Given the description of an element on the screen output the (x, y) to click on. 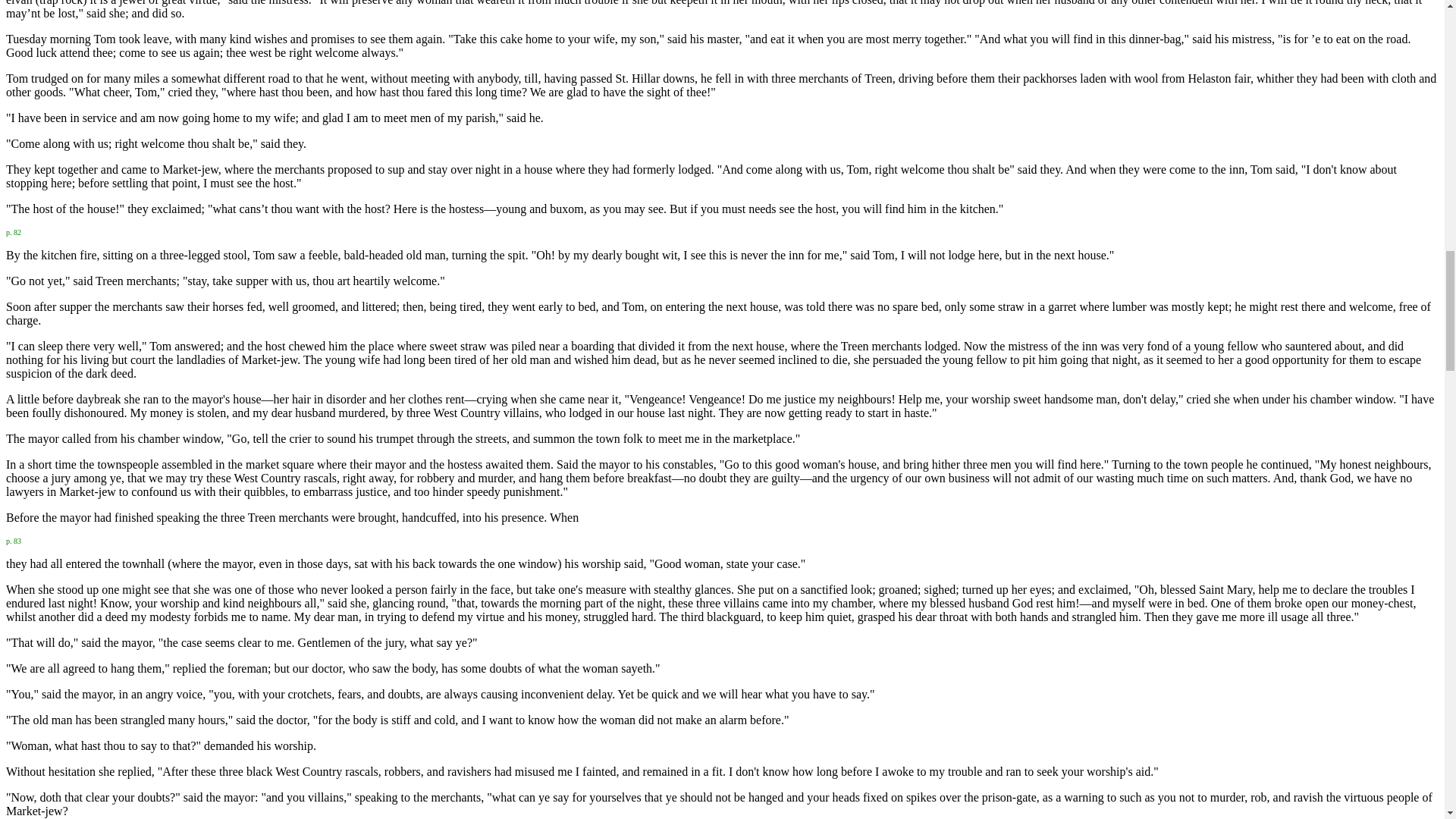
p. 83 (13, 539)
p. 82 (13, 230)
